Given the description of an element on the screen output the (x, y) to click on. 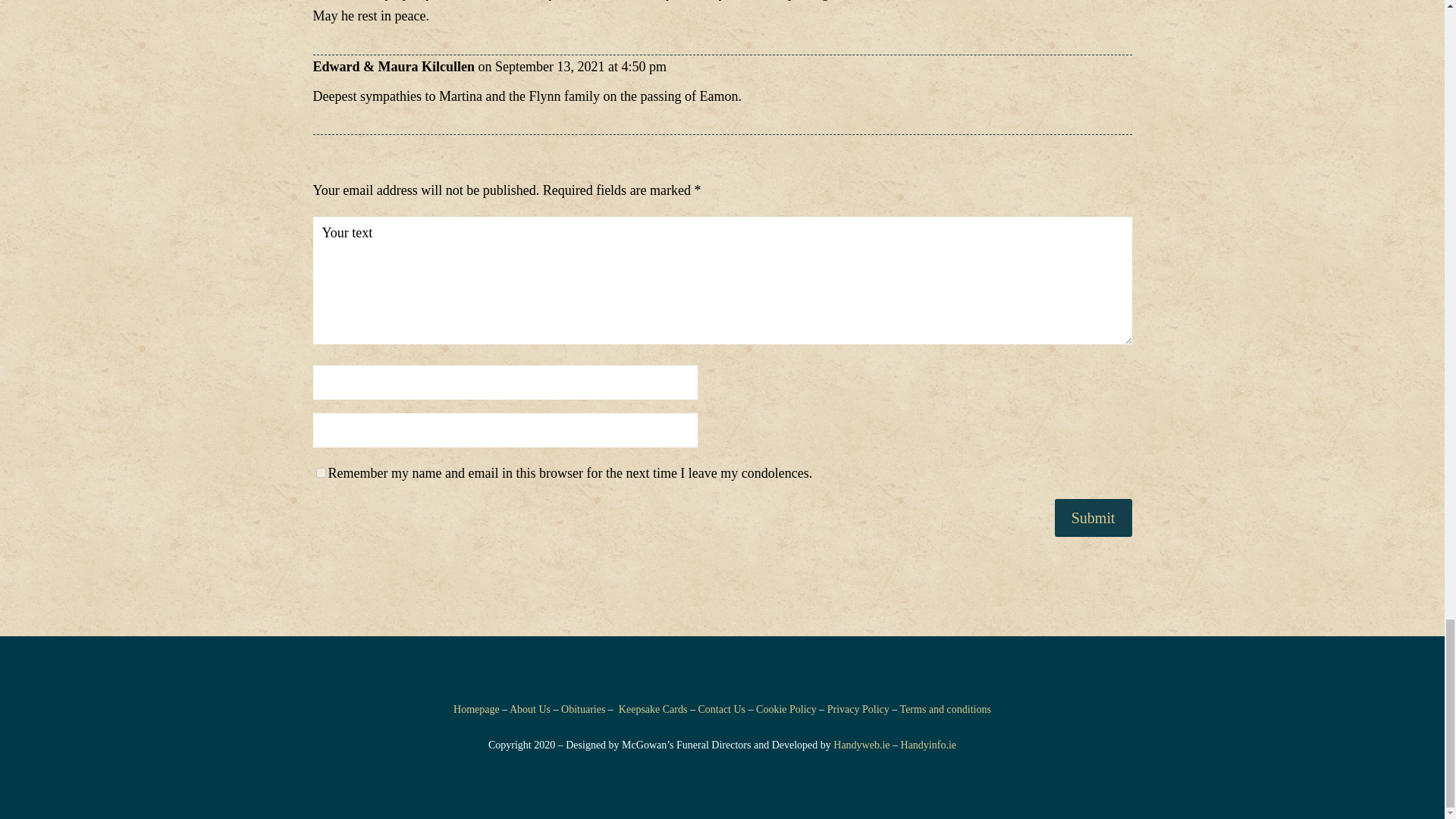
About Us (529, 708)
Terms and conditions (945, 708)
Obituaries (582, 708)
Handyinfo.ie (928, 745)
Homepage (475, 708)
Contact Us (721, 708)
Handyweb.ie (860, 745)
Cookie Policy (785, 708)
Privacy Policy (858, 708)
Keepsake Cards (652, 708)
